Given the description of an element on the screen output the (x, y) to click on. 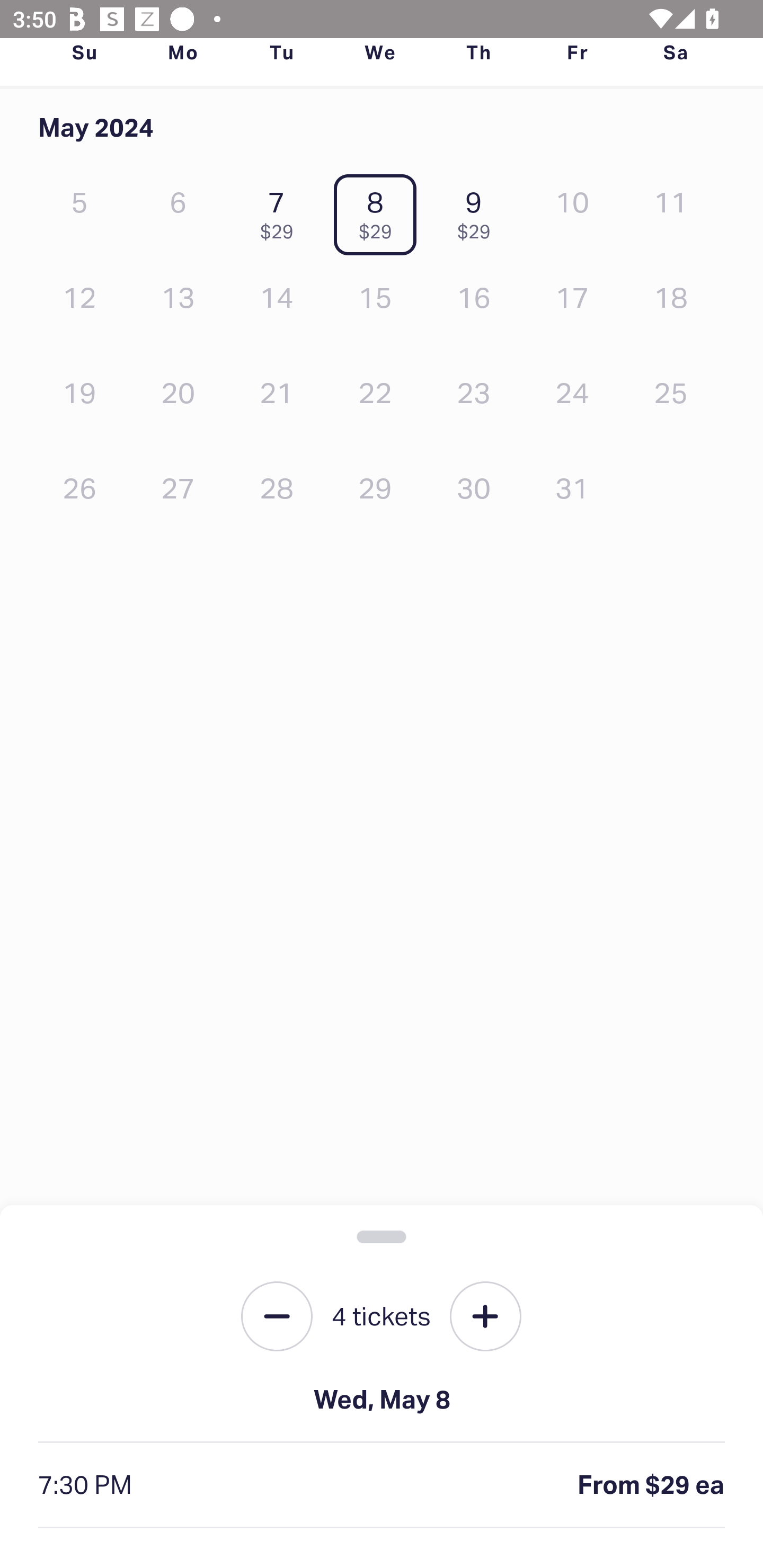
7 $29 (281, 210)
8 $29 (379, 210)
9 $29 (478, 210)
7:30 PM From $29 ea (381, 1485)
